Given the description of an element on the screen output the (x, y) to click on. 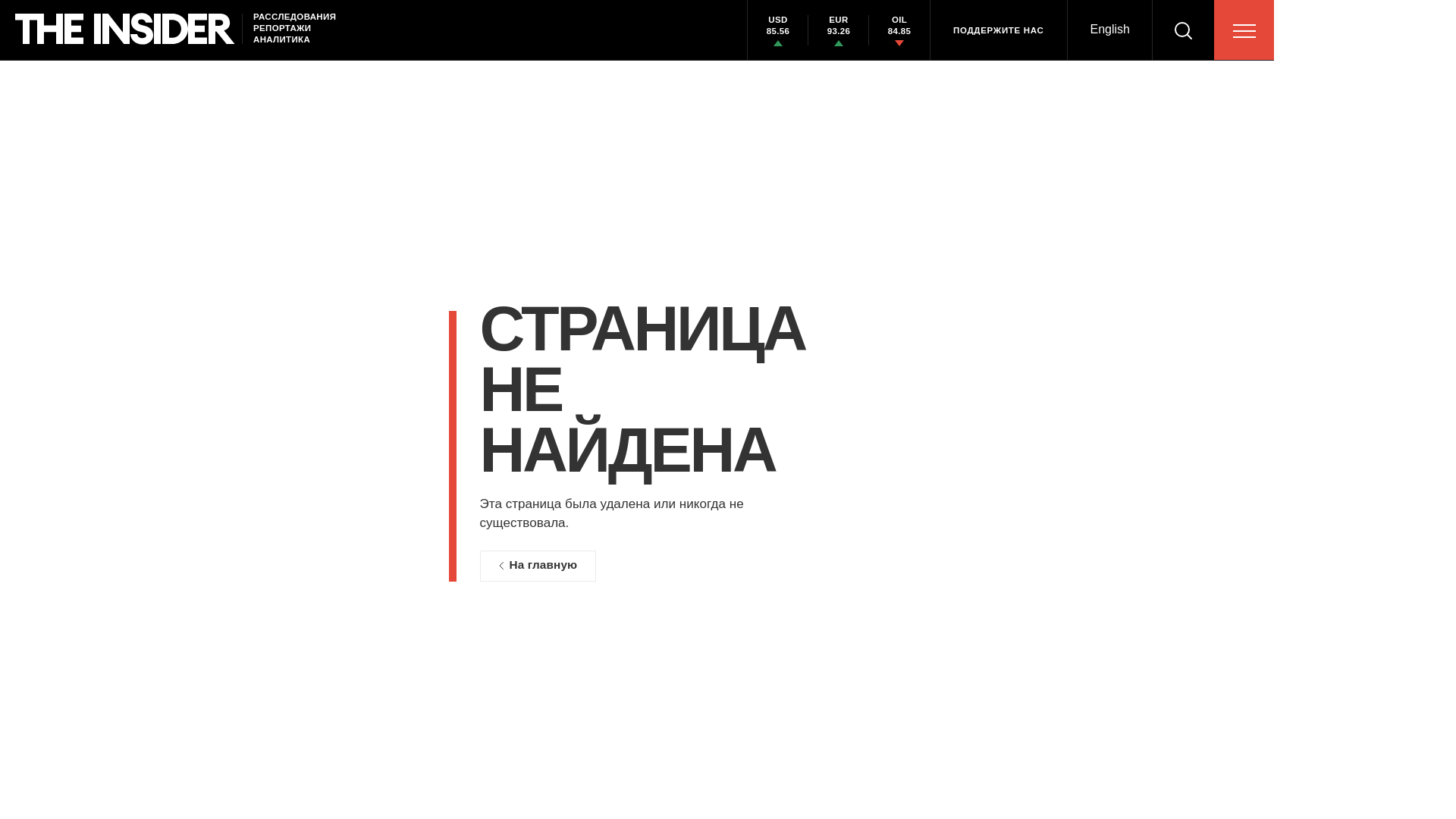
English (1110, 29)
